Given the description of an element on the screen output the (x, y) to click on. 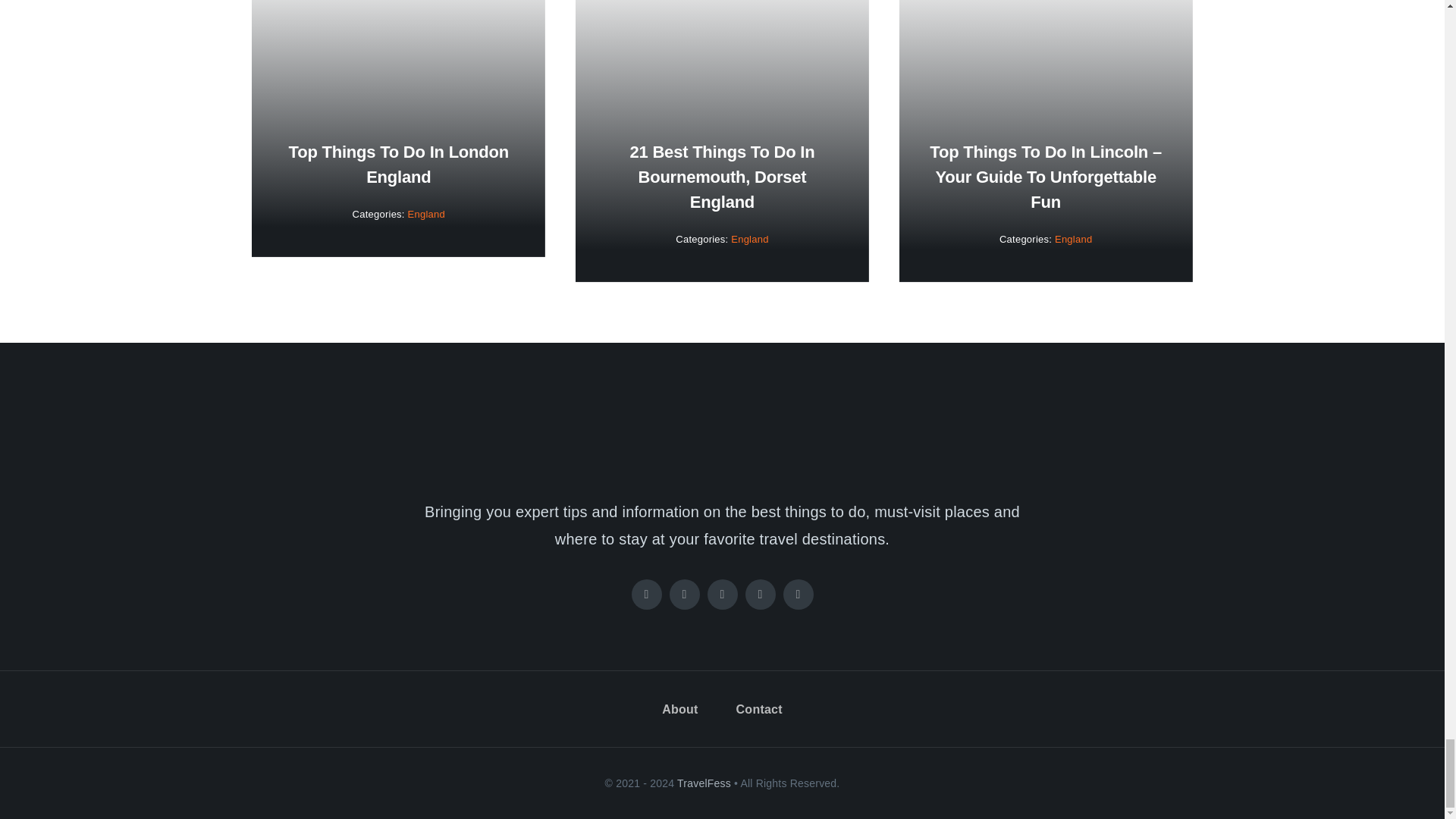
Twitter (683, 594)
Pinterest (759, 594)
Instagram (721, 594)
Facebook (645, 594)
Telegram (797, 594)
